Given the description of an element on the screen output the (x, y) to click on. 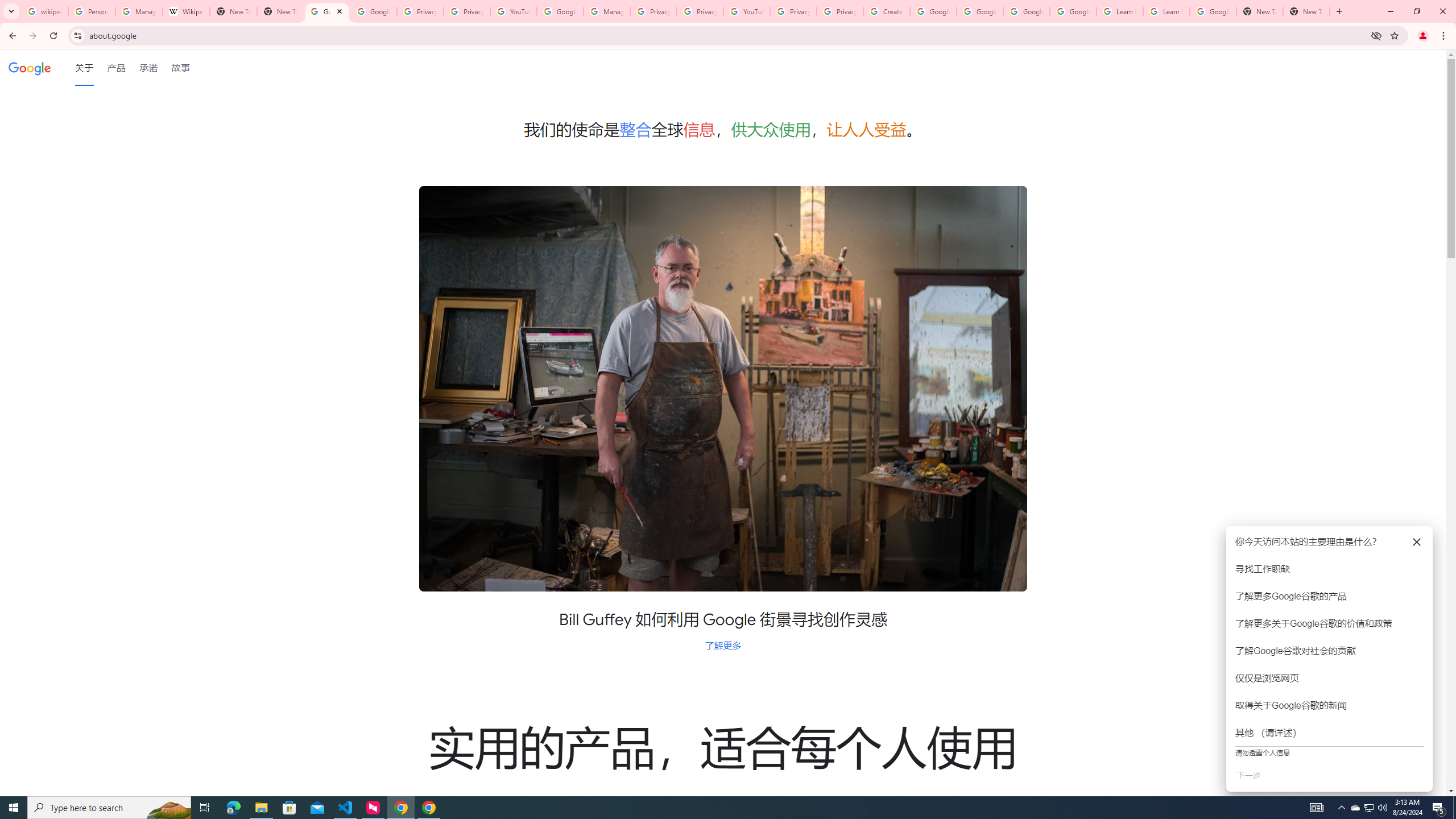
Google Account Help (559, 11)
New Tab (279, 11)
YouTube (512, 11)
Google Drive: Sign-in (373, 11)
Google Account Help (933, 11)
Create your Google Account (886, 11)
